Given the description of an element on the screen output the (x, y) to click on. 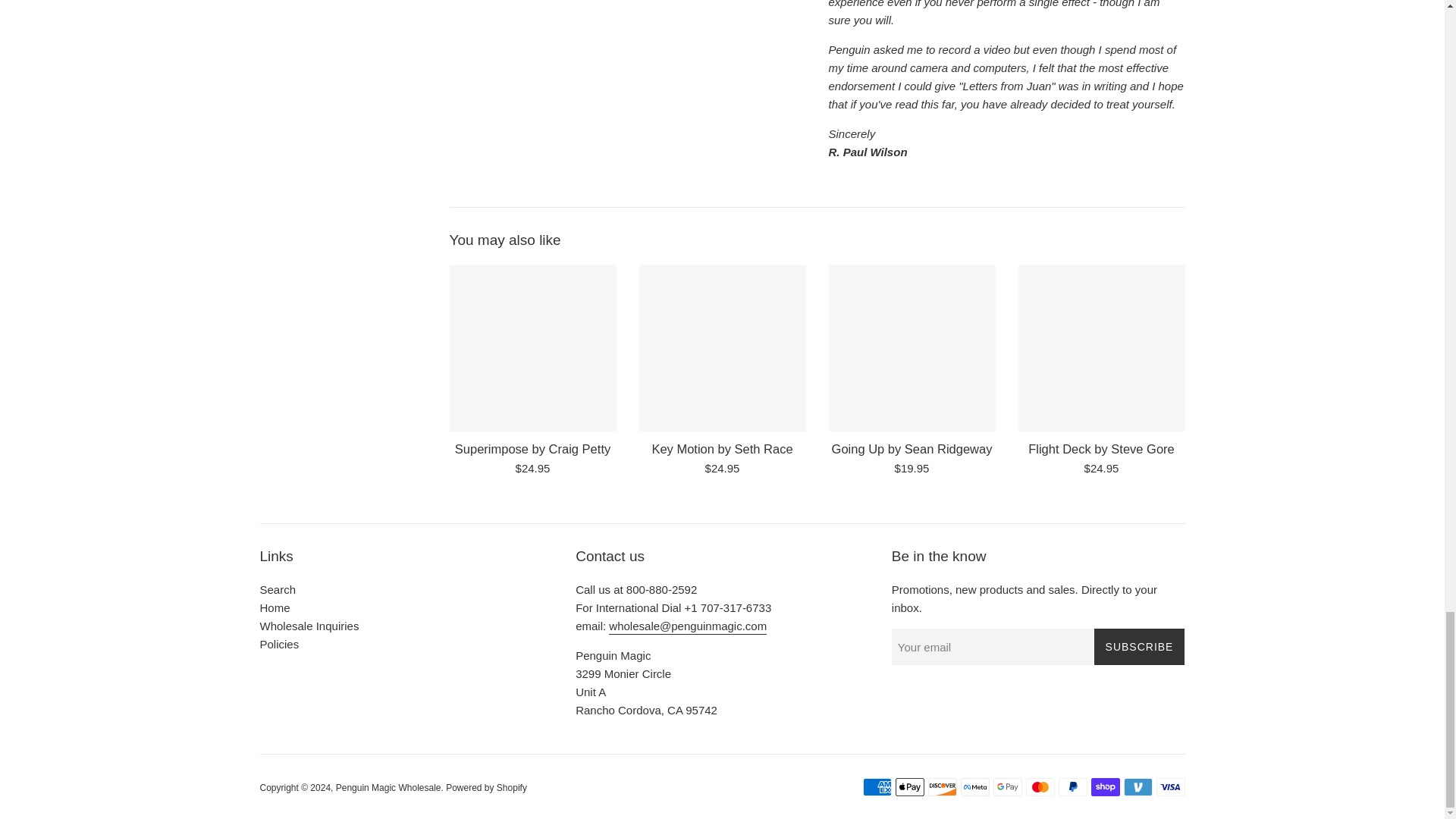
Shop Pay (1104, 787)
Key Motion by Seth Race (722, 347)
Google Pay (1007, 787)
Home (274, 607)
Meta Pay (973, 787)
Key Motion by Seth Race (721, 448)
Venmo (1138, 787)
Superimpose by Craig Petty (531, 347)
Going Up by Sean Ridgeway (911, 347)
Search (277, 589)
